Given the description of an element on the screen output the (x, y) to click on. 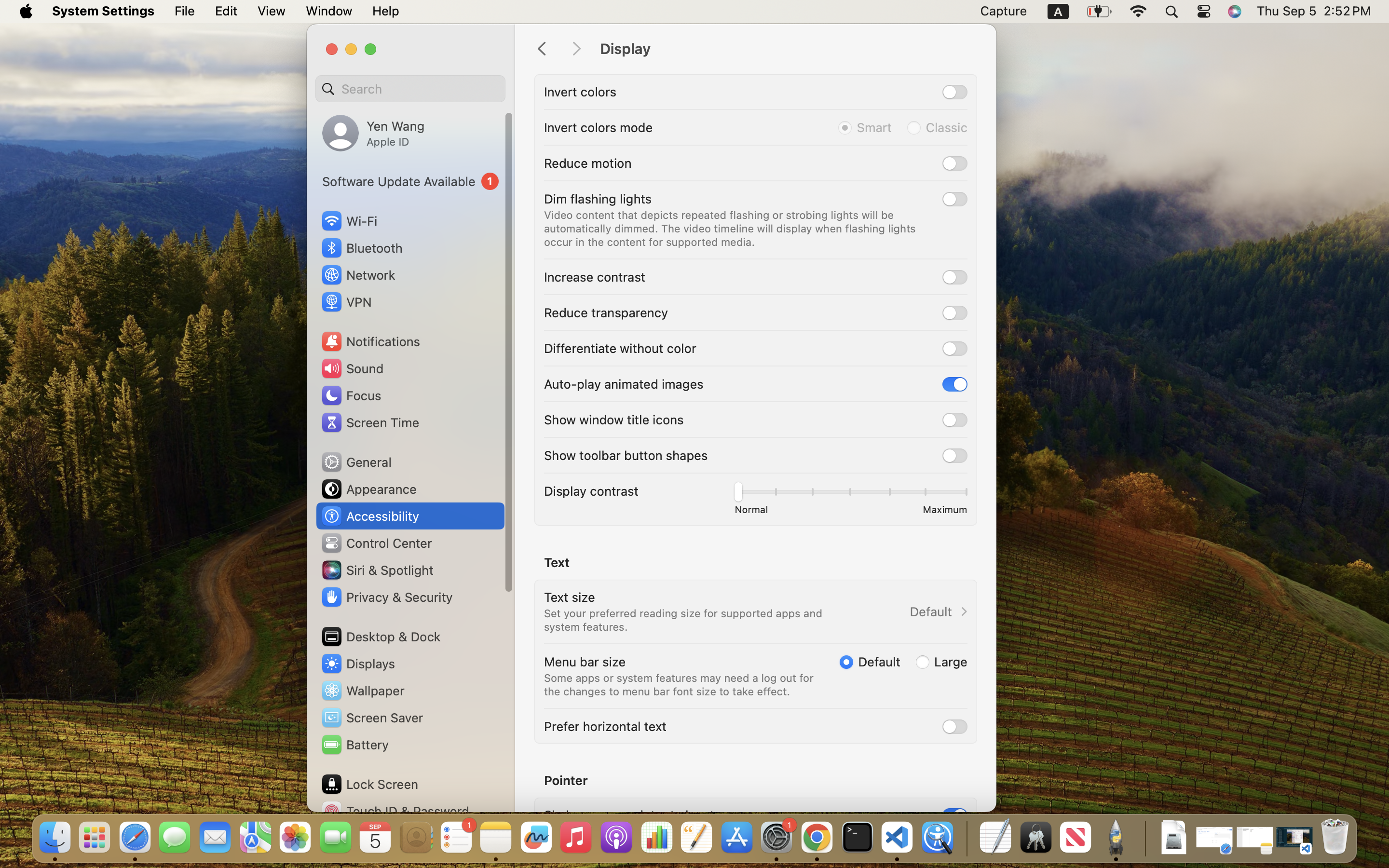
Screen Saver Element type: AXStaticText (371, 717)
Menu bar size Element type: AXStaticText (585, 661)
1 Element type: AXCheckBox (954, 815)
